Given the description of an element on the screen output the (x, y) to click on. 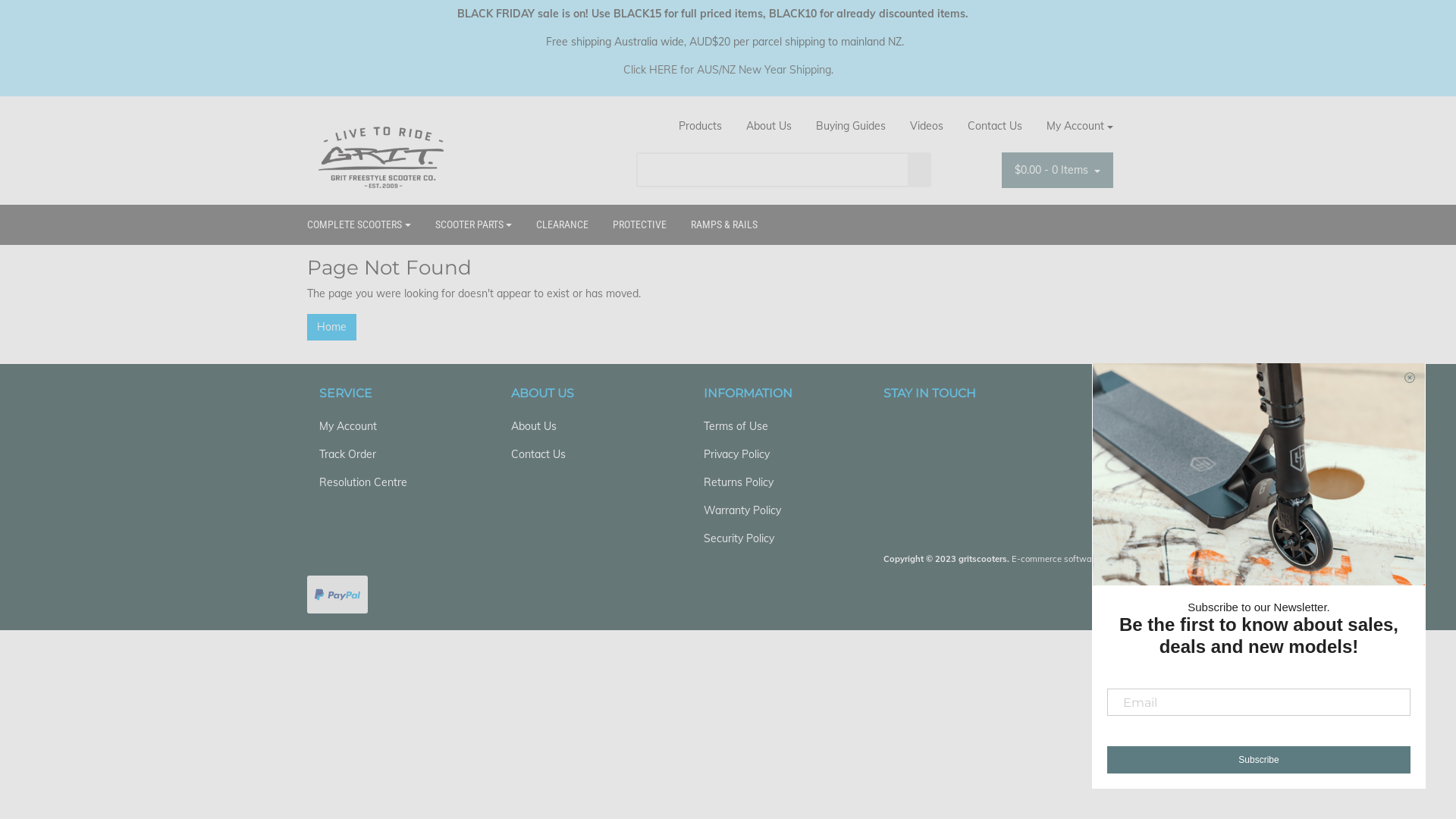
Neto Element type: text (1122, 558)
Videos Element type: text (926, 126)
Buying Guides Element type: text (850, 126)
Contact Us Element type: text (994, 126)
Warranty Policy Element type: text (775, 510)
Returns Policy Element type: text (775, 482)
PROTECTIVE Element type: text (639, 224)
Contact Us Element type: text (583, 454)
SCOOTER PARTS Element type: text (473, 224)
Home Element type: text (331, 326)
Privacy Policy Element type: text (775, 454)
Products Element type: text (700, 126)
Resolution Centre Element type: text (391, 482)
About Us Element type: text (583, 426)
Terms of Use Element type: text (775, 426)
My Account Element type: text (391, 426)
About Us Element type: text (768, 126)
gritscooters Element type: hover (380, 156)
Click HERE for AUS/NZ New Year Shipping Element type: text (727, 69)
Security Policy Element type: text (775, 538)
CLEARANCE Element type: text (562, 224)
Search Element type: text (919, 169)
$0.00 - 0 Items Element type: text (1057, 170)
RAMPS & RAILS Element type: text (723, 224)
My Account Element type: text (1073, 126)
Track Order Element type: text (391, 454)
COMPLETE SCOOTERS Element type: text (365, 224)
